Given the description of an element on the screen output the (x, y) to click on. 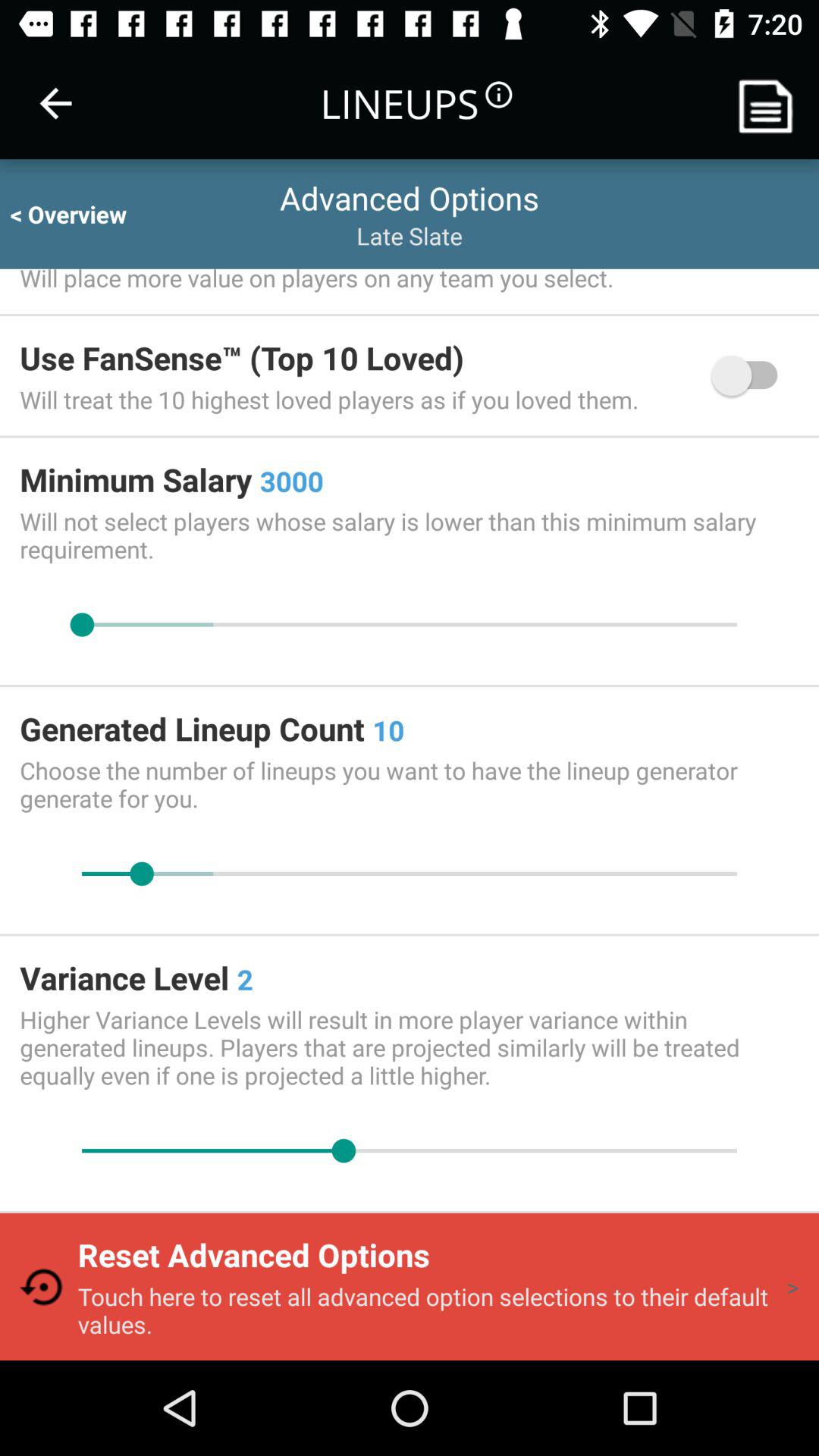
lineup count slider (409, 873)
